Given the description of an element on the screen output the (x, y) to click on. 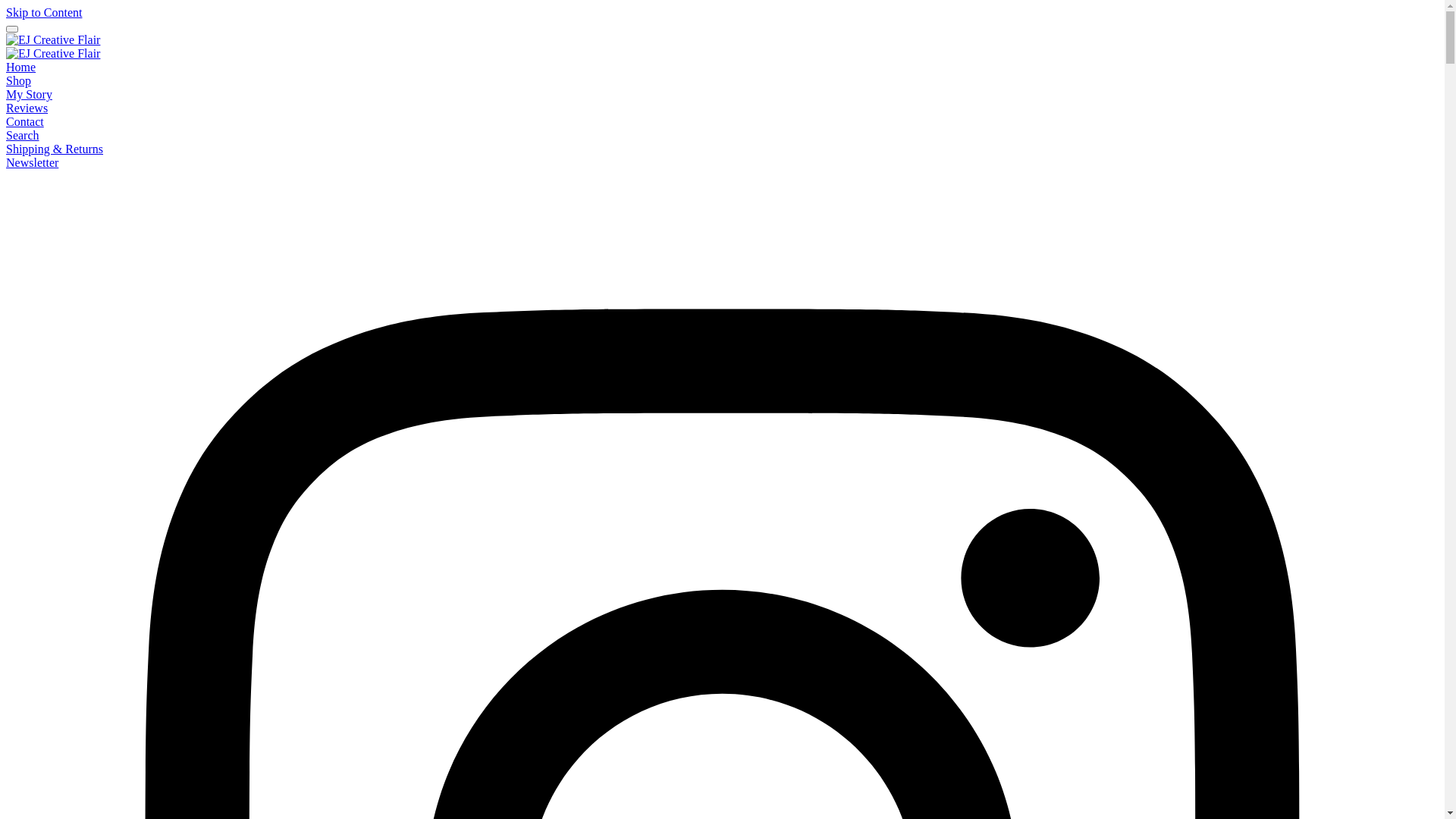
Skip to Content Element type: text (43, 12)
Shipping & Returns Element type: text (54, 148)
Newsletter Element type: text (32, 162)
Reviews Element type: text (26, 107)
My Story Element type: text (29, 93)
Home Element type: text (20, 66)
Shop Element type: text (18, 80)
Search Element type: text (22, 134)
Contact Element type: text (24, 121)
